Given the description of an element on the screen output the (x, y) to click on. 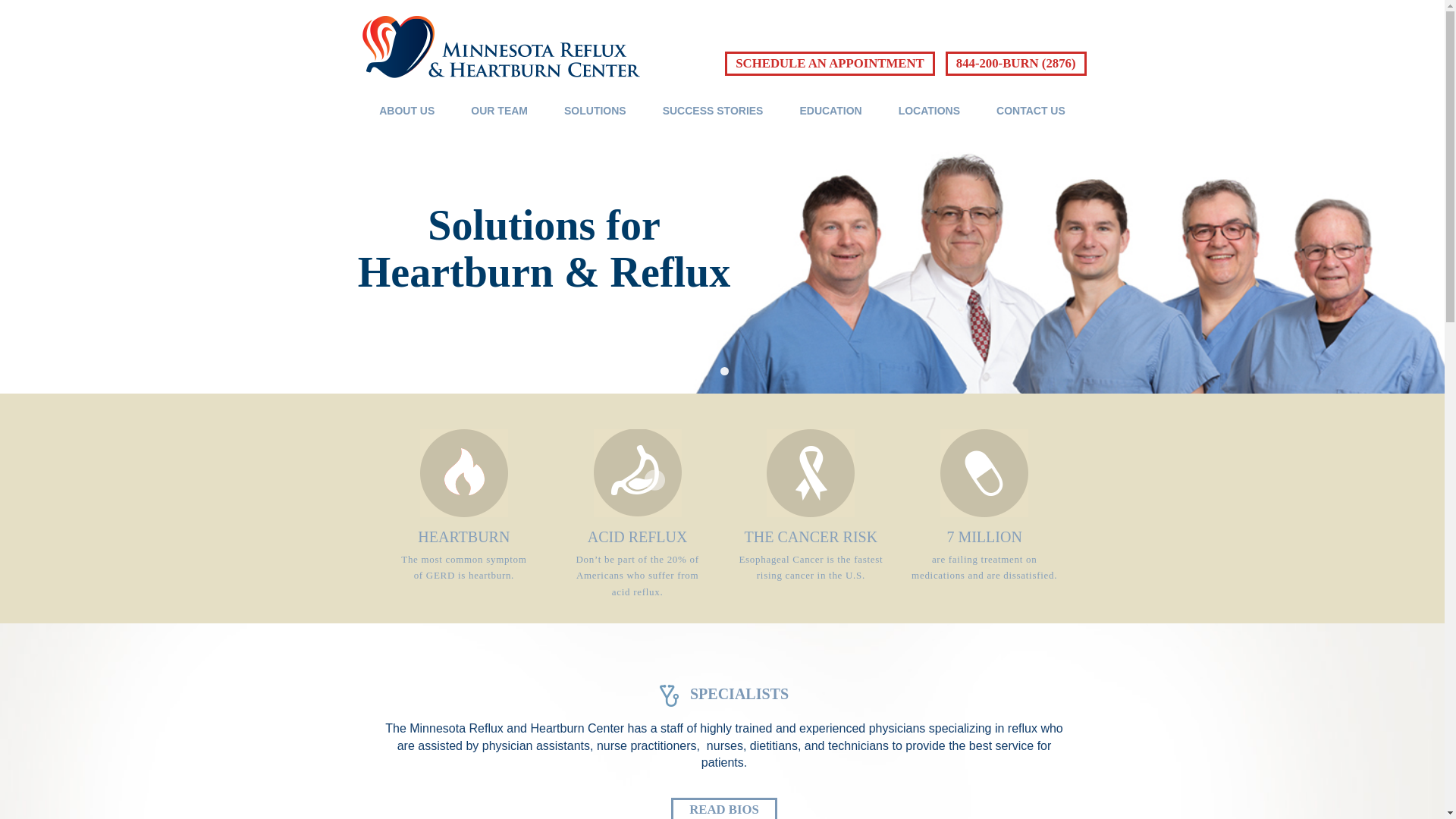
EDUCATION (830, 112)
CONTACT US (1030, 112)
LOCATIONS (928, 112)
THE CANCER RISK (810, 536)
SCHEDULE AN APPOINTMENT (829, 63)
ABOUT US (405, 112)
7 MILLION (984, 536)
HEARTBURN (463, 536)
SUCCESS STORIES (712, 112)
READ BIOS (724, 808)
ACID REFLUX (637, 536)
OUR TEAM (498, 112)
SOLUTIONS (595, 112)
